Given the description of an element on the screen output the (x, y) to click on. 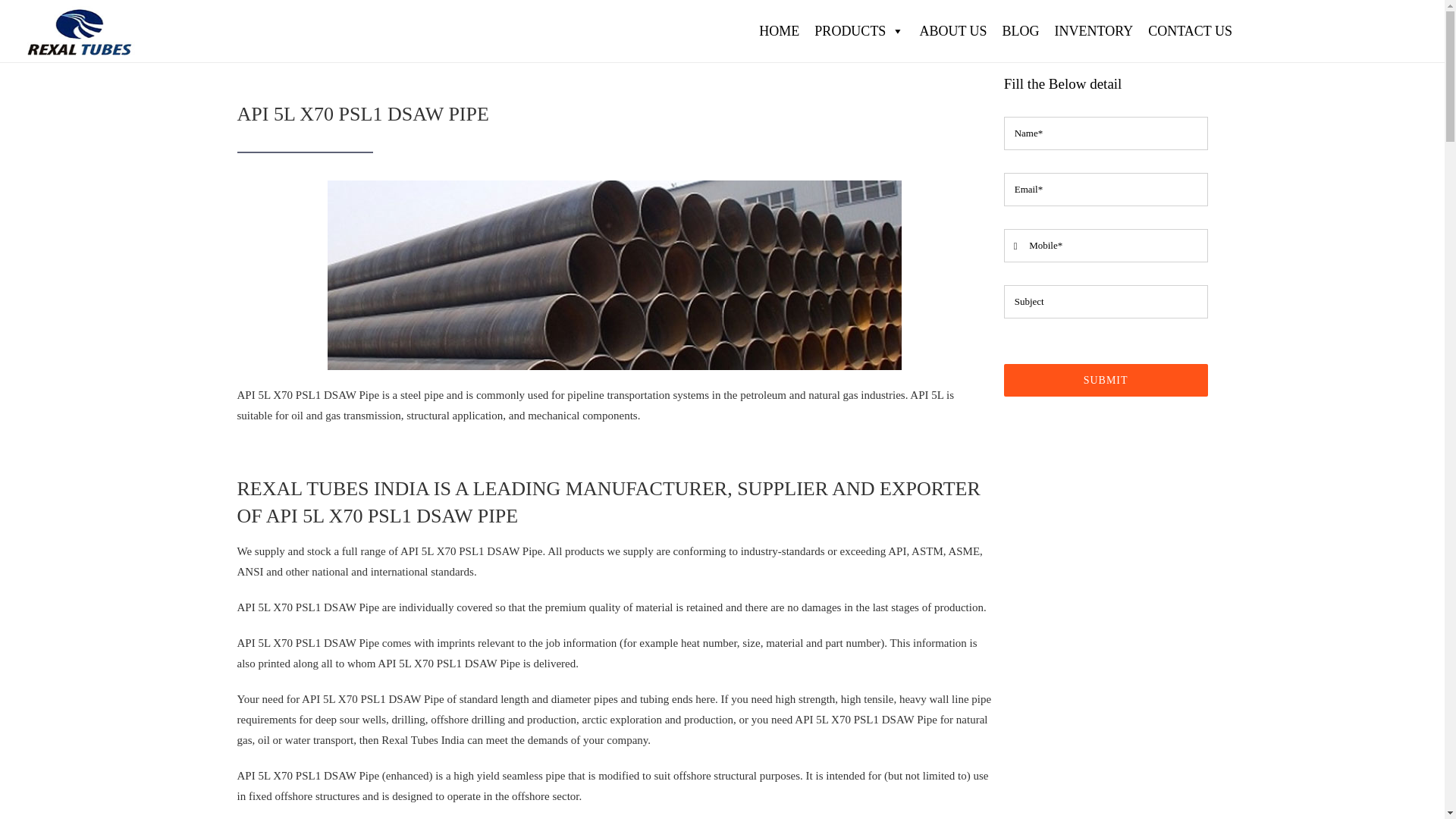
HOME (778, 30)
API 5L X42 PSL2 DSAW Pipe (614, 275)
PRODUCTS (858, 30)
Only numbers and phone characters are accepted. (1106, 245)
